Given the description of an element on the screen output the (x, y) to click on. 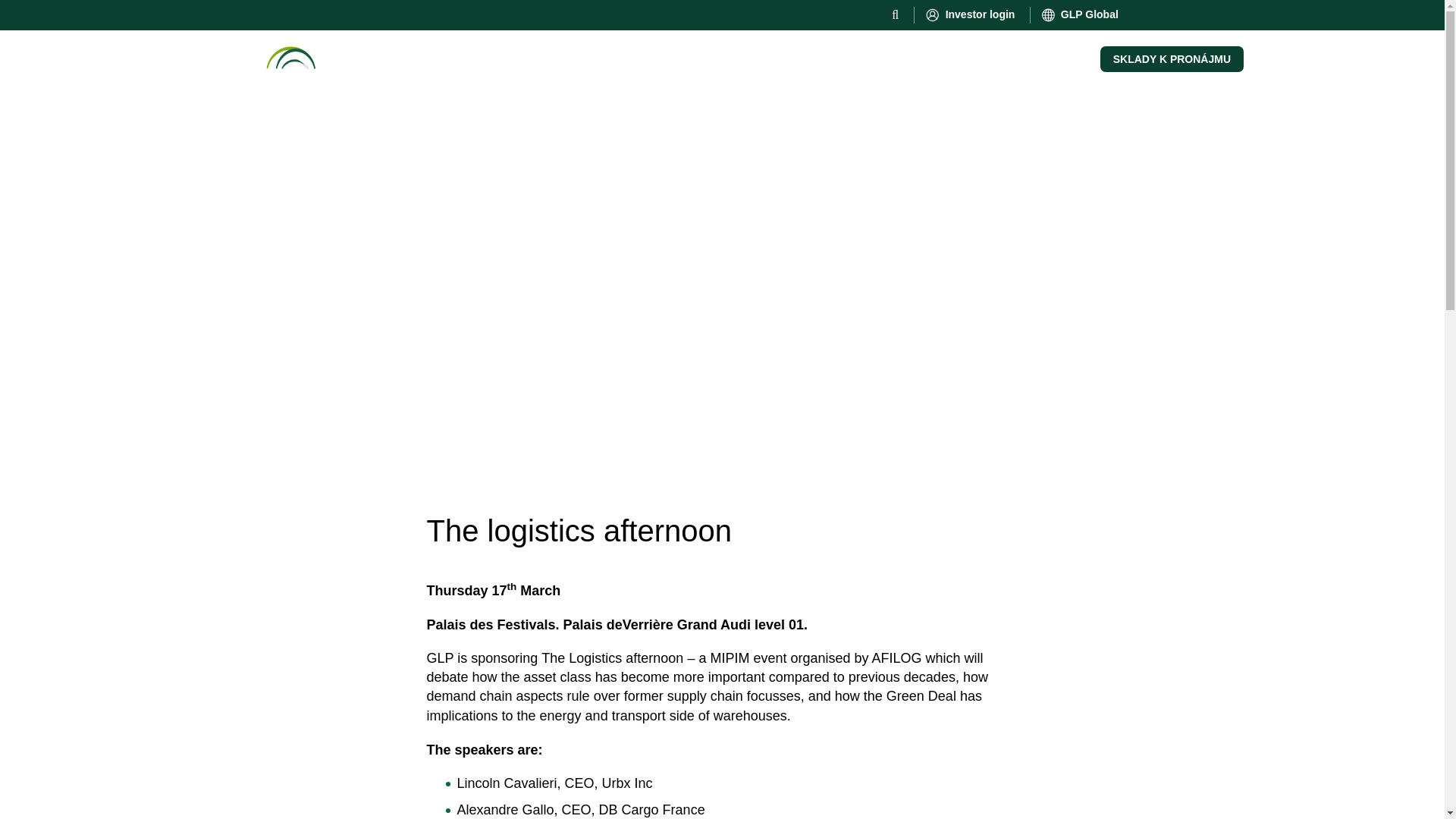
GLP Global (1081, 14)
Novinky a poznatky (598, 56)
ESG (506, 56)
Investor login (971, 14)
